Given the description of an element on the screen output the (x, y) to click on. 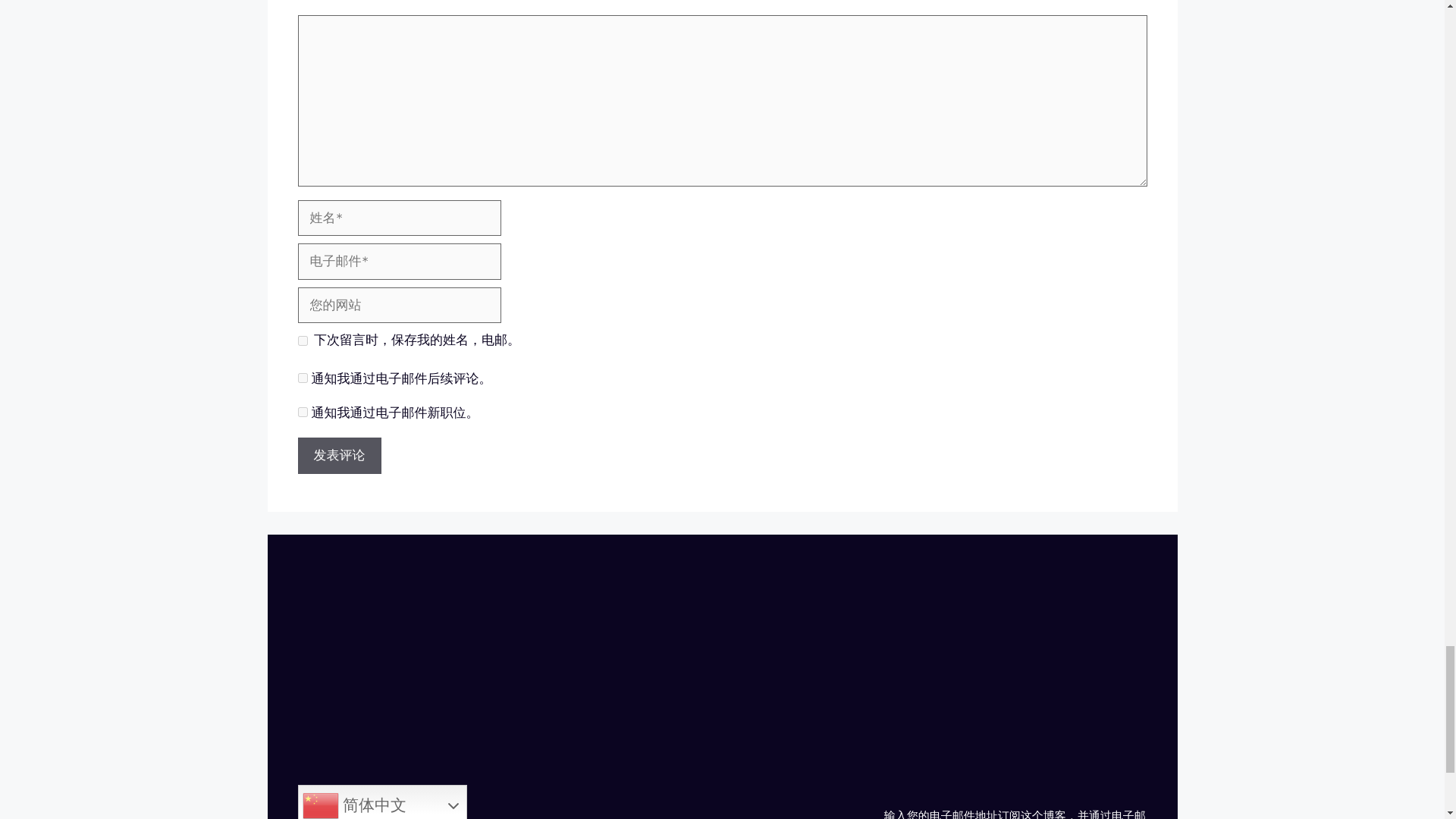
subscribe (302, 378)
yes (302, 340)
subscribe (302, 411)
